Given the description of an element on the screen output the (x, y) to click on. 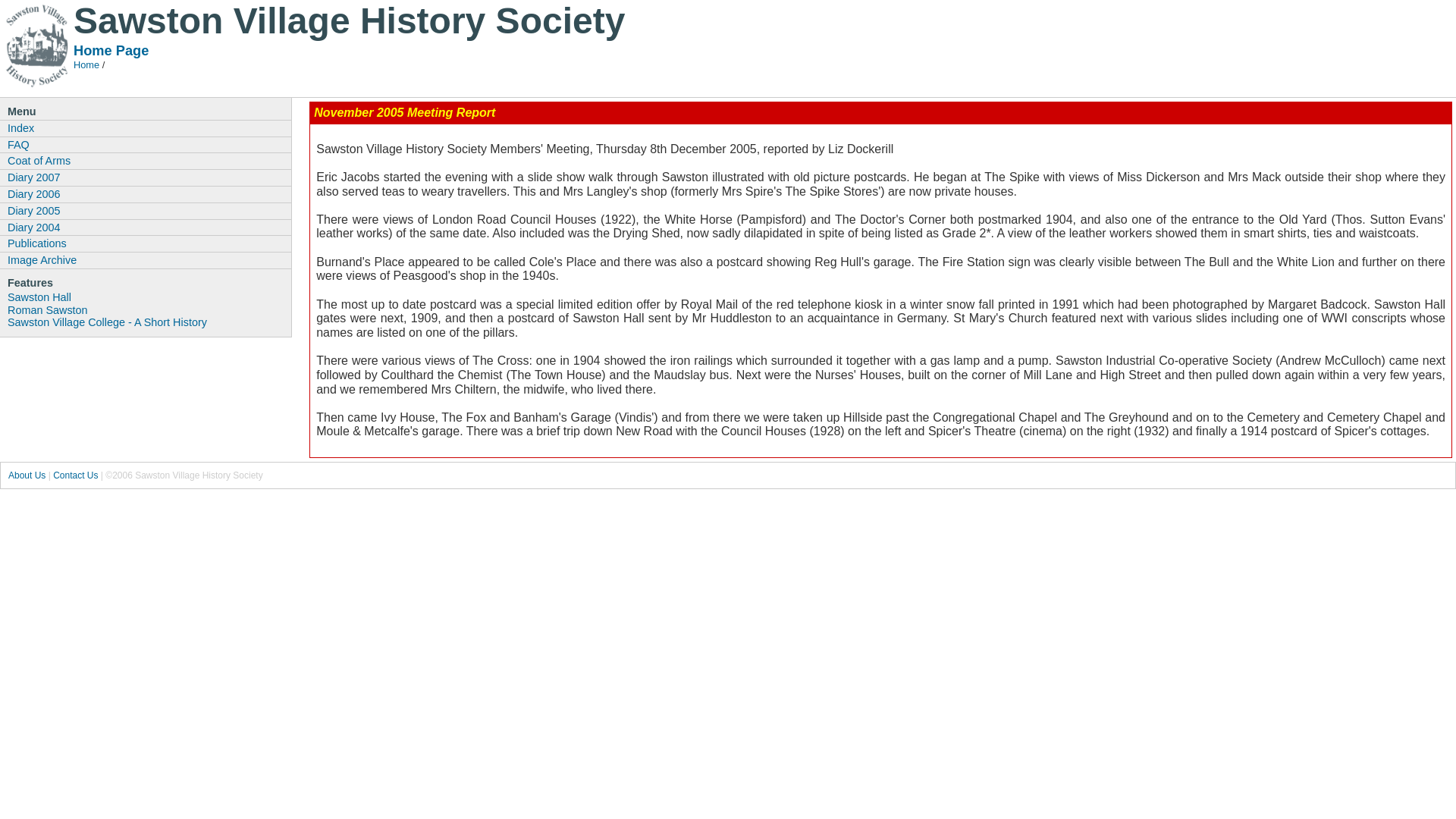
Roman Sawston (149, 309)
Index (145, 127)
Publications (145, 243)
Diary 2007 (145, 176)
Image Archive (145, 259)
Diary 2006 (145, 193)
Home (86, 64)
Diary 2005 (145, 210)
About Us (26, 475)
Contact Us (74, 475)
Sawston Village College - A Short History (149, 322)
Coat of Arms (145, 160)
Diary 2004 (145, 227)
Sawston Hall (149, 297)
FAQ (145, 144)
